Given the description of an element on the screen output the (x, y) to click on. 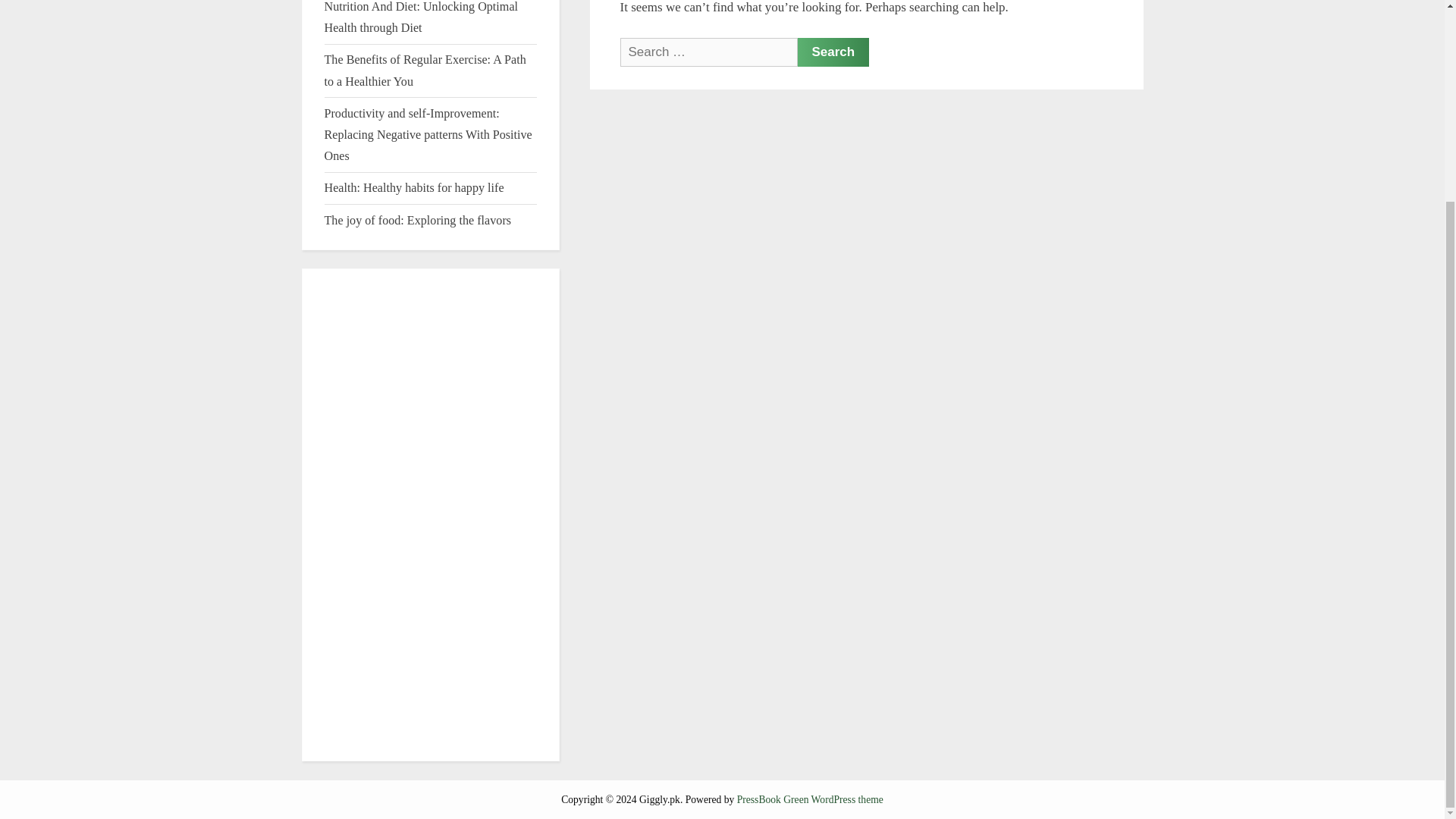
Search (833, 51)
The joy of food: Exploring the flavors (418, 219)
Nutrition And Diet: Unlocking Optimal Health through Diet (421, 17)
Search (833, 51)
Health: Healthy habits for happy life (413, 187)
The Benefits of Regular Exercise: A Path to a Healthier You (424, 69)
PressBook Green WordPress theme (809, 799)
Search (833, 51)
